Given the description of an element on the screen output the (x, y) to click on. 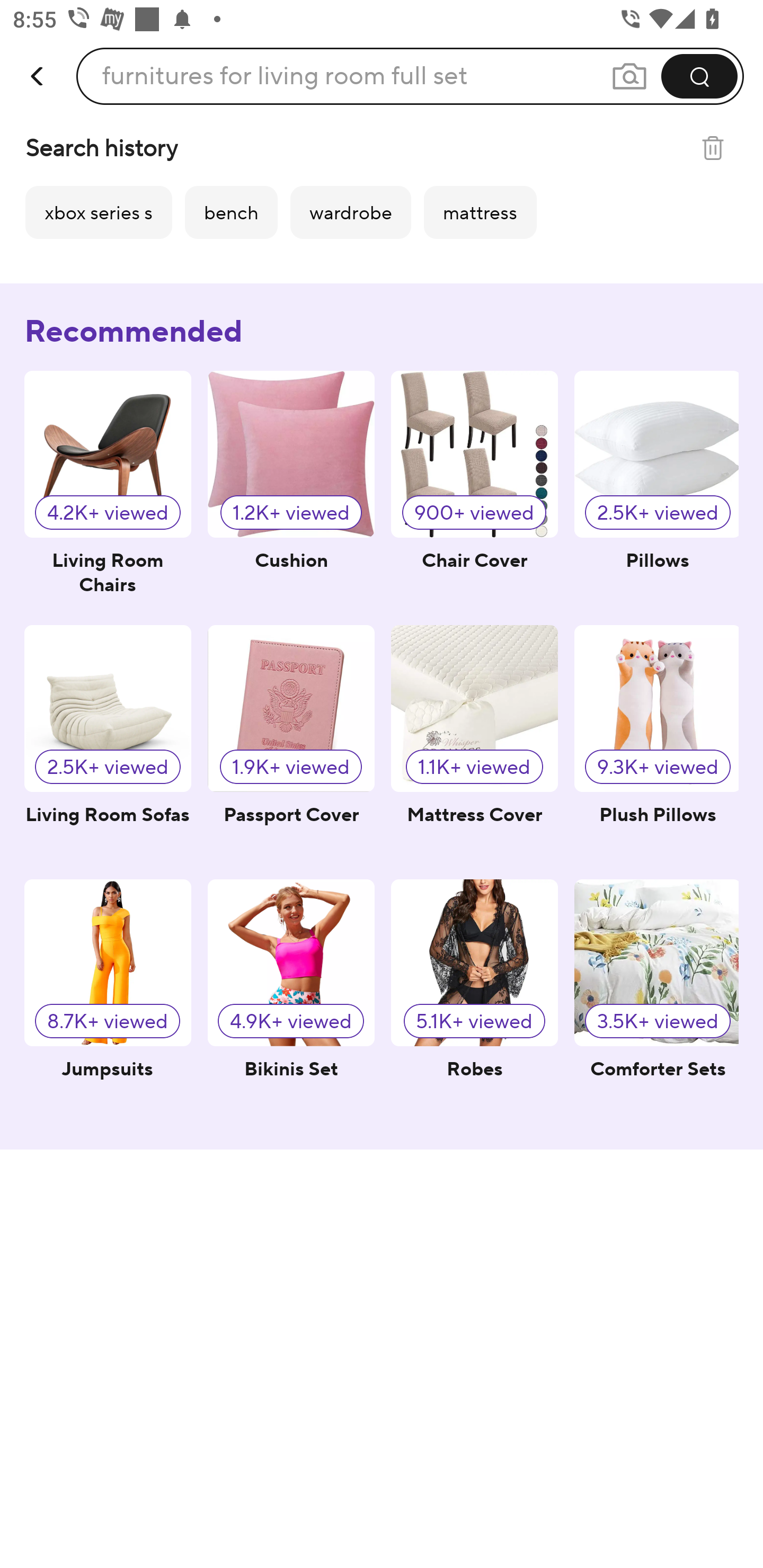
furnitures for living room full set (409, 76)
furnitures for living room full set (284, 76)
xbox series s (98, 212)
bench (230, 212)
wardrobe (350, 212)
mattress (480, 212)
4.2K+ viewed Living Room Chairs (107, 489)
1.2K+ viewed Cushion (290, 489)
900+ viewed Chair Cover (473, 489)
2.5K+ viewed Pillows (656, 489)
2.5K+ viewed Living Room Sofas (107, 743)
1.9K+ viewed Passport Cover (290, 743)
1.1K+ viewed Mattress Cover (473, 743)
9.3K+ viewed Plush Pillows (656, 743)
8.7K+ viewed Jumpsuits (107, 997)
4.9K+ viewed Bikinis Set (290, 997)
5.1K+ viewed Robes (473, 997)
3.5K+ viewed Comforter Sets (656, 997)
